Given the description of an element on the screen output the (x, y) to click on. 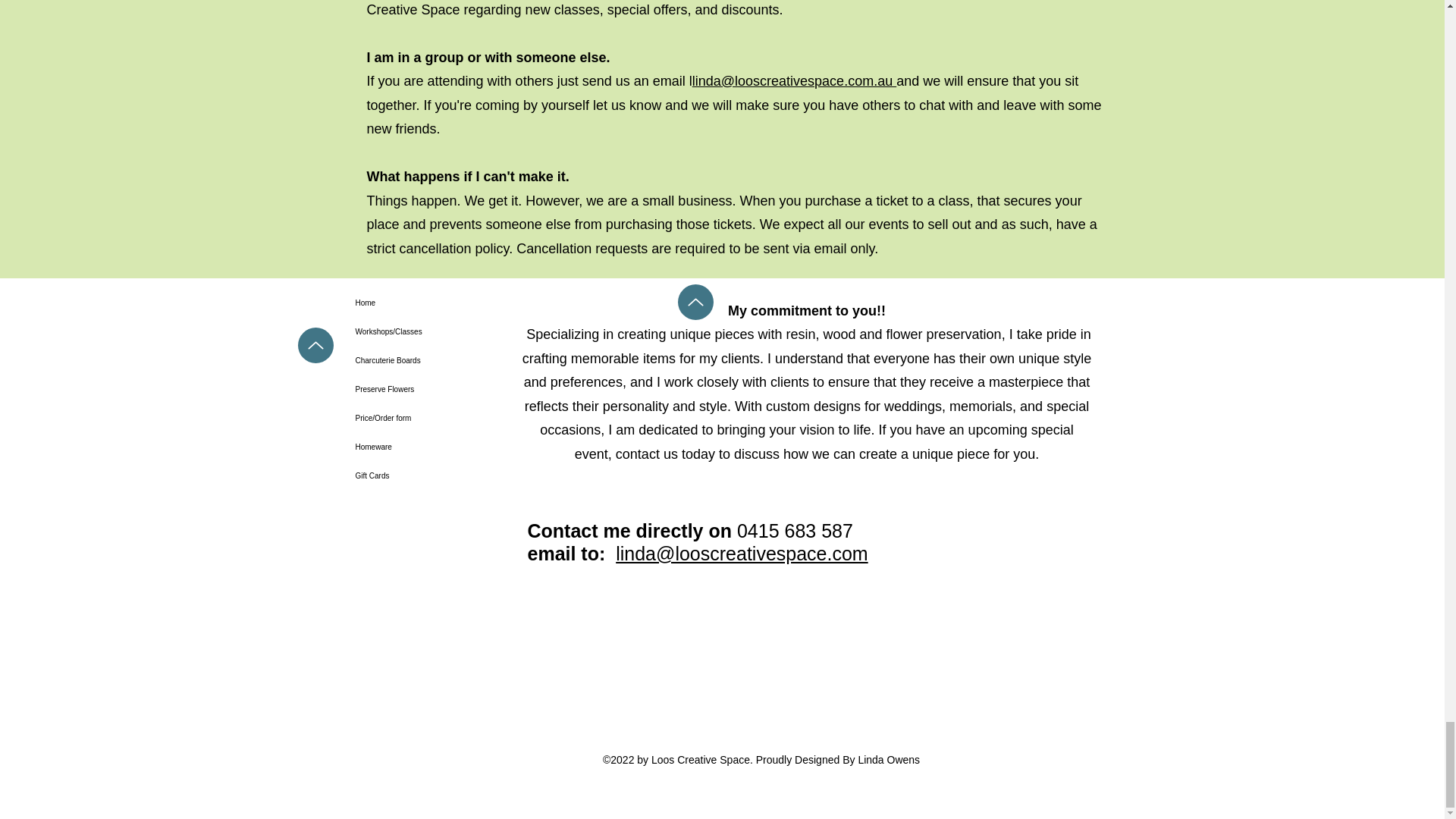
Home (410, 303)
Preserve Flowers (410, 389)
Homeware (410, 447)
Charcuterie Boards (410, 360)
Gift Cards (410, 475)
